Given the description of an element on the screen output the (x, y) to click on. 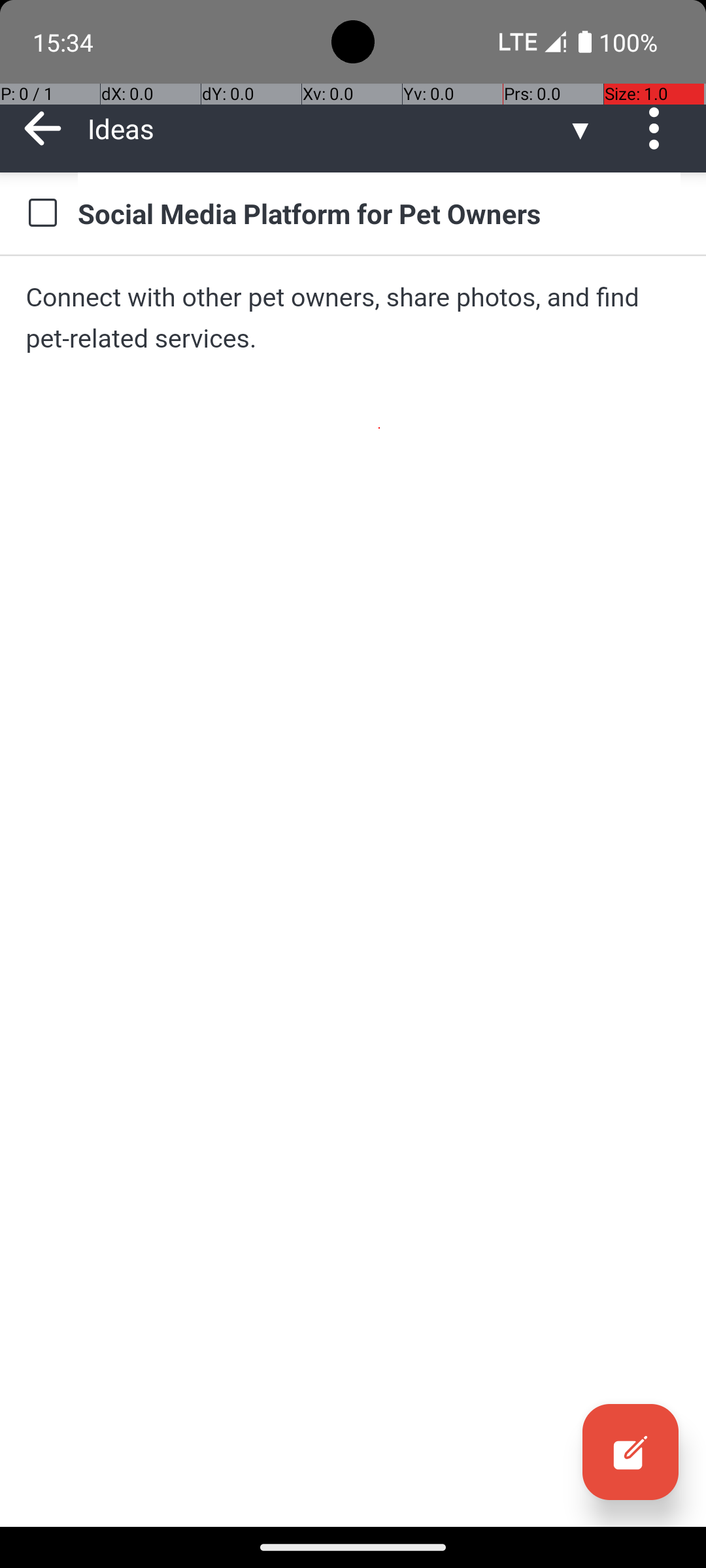
Social Media Platform for Pet Owners Element type: android.widget.EditText (378, 213)
Connect with other pet owners, share photos, and find pet-related services. Element type: android.widget.TextView (352, 317)
